Given the description of an element on the screen output the (x, y) to click on. 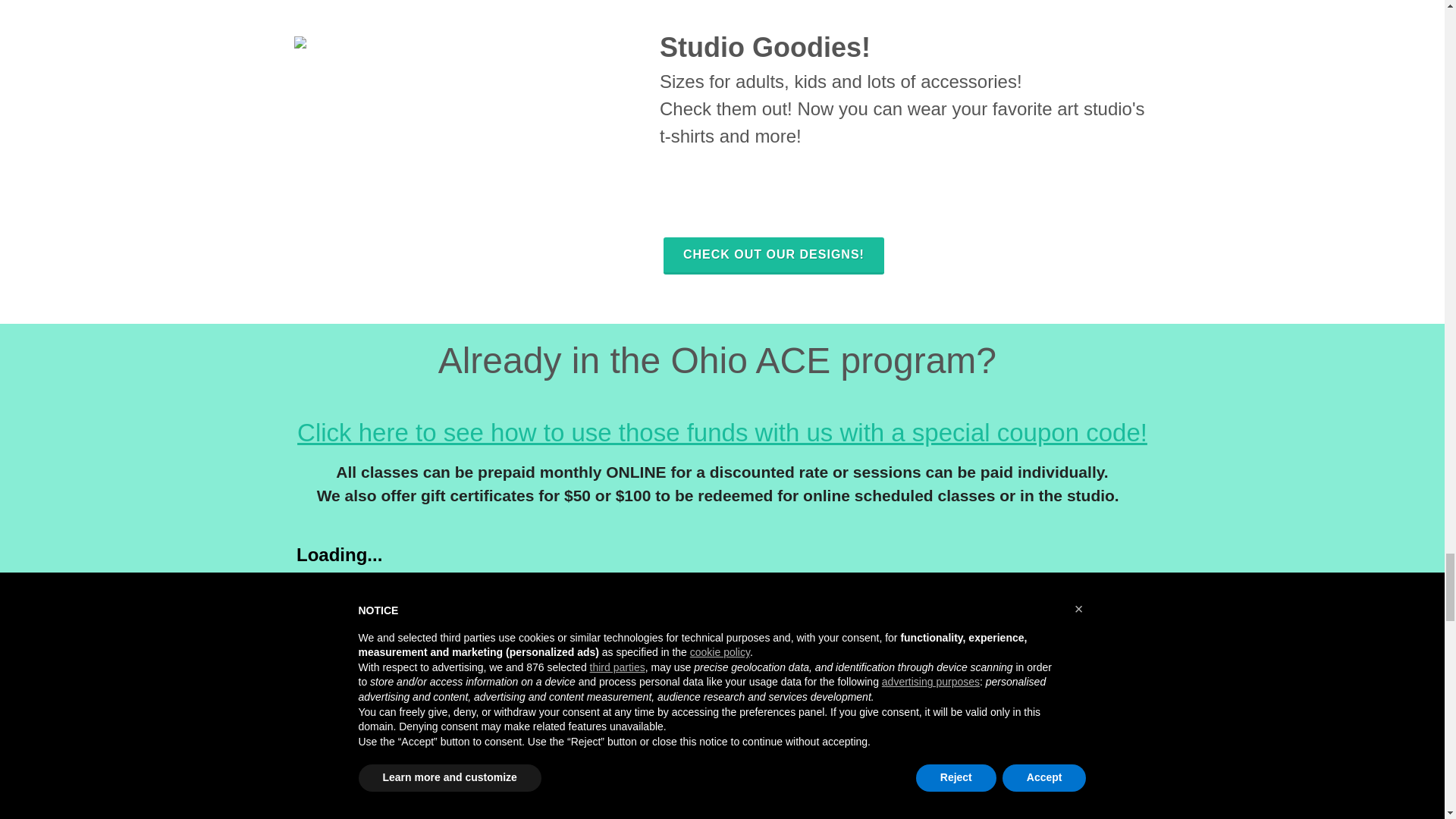
CHECK OUT OUR DESIGNS! (773, 255)
